Given the description of an element on the screen output the (x, y) to click on. 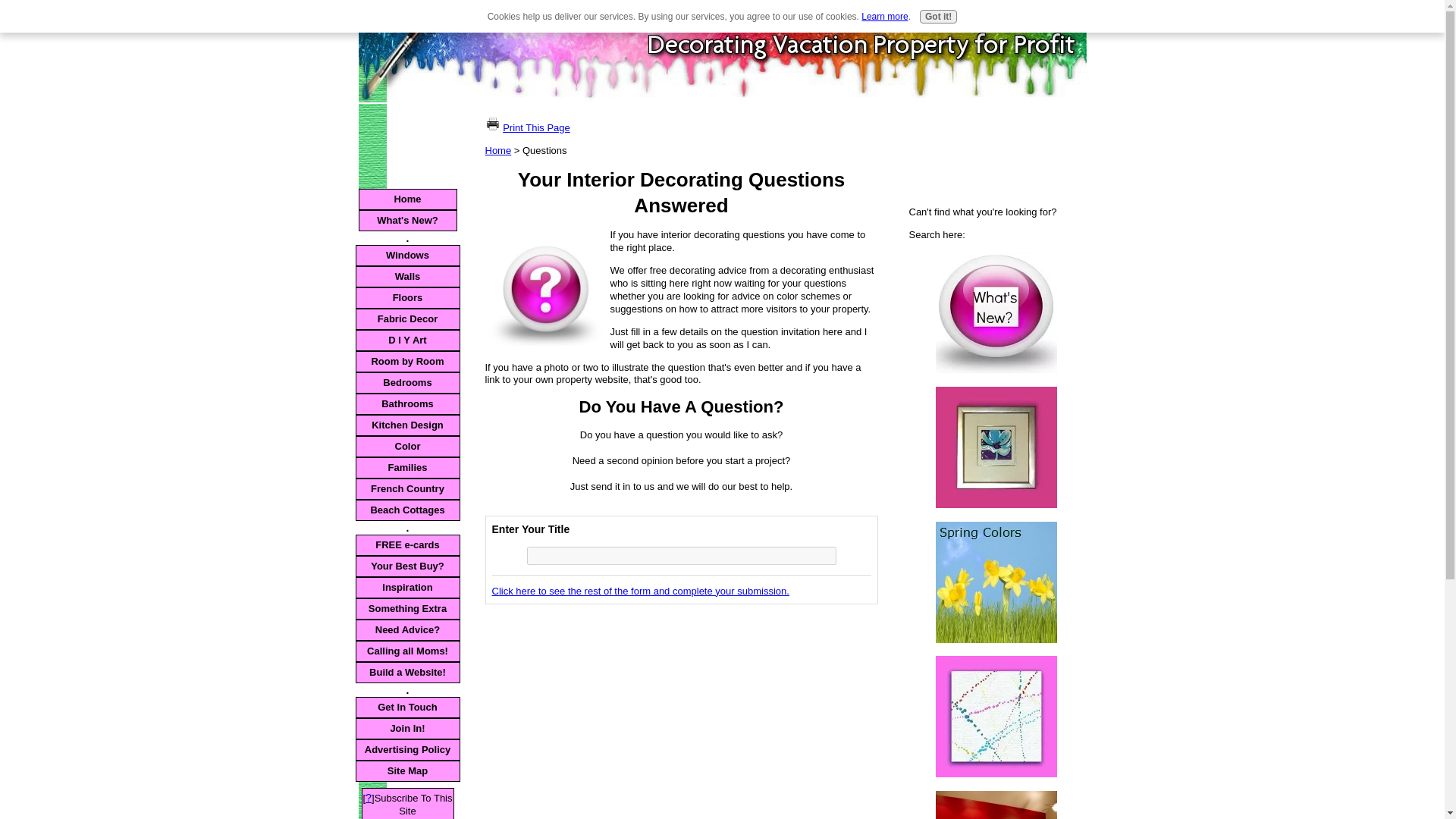
Floors (407, 297)
Accent wall (996, 805)
Advertisement (611, 716)
Need Advice? (407, 629)
Splatter painting (996, 716)
Get In Touch (407, 707)
Families (407, 467)
Print This Page (536, 127)
Beach Cottages (407, 509)
Kitchen Design (407, 424)
Bedrooms (407, 382)
Fabric Decor (407, 319)
Home (407, 199)
Calling all Moms! (407, 650)
